Given the description of an element on the screen output the (x, y) to click on. 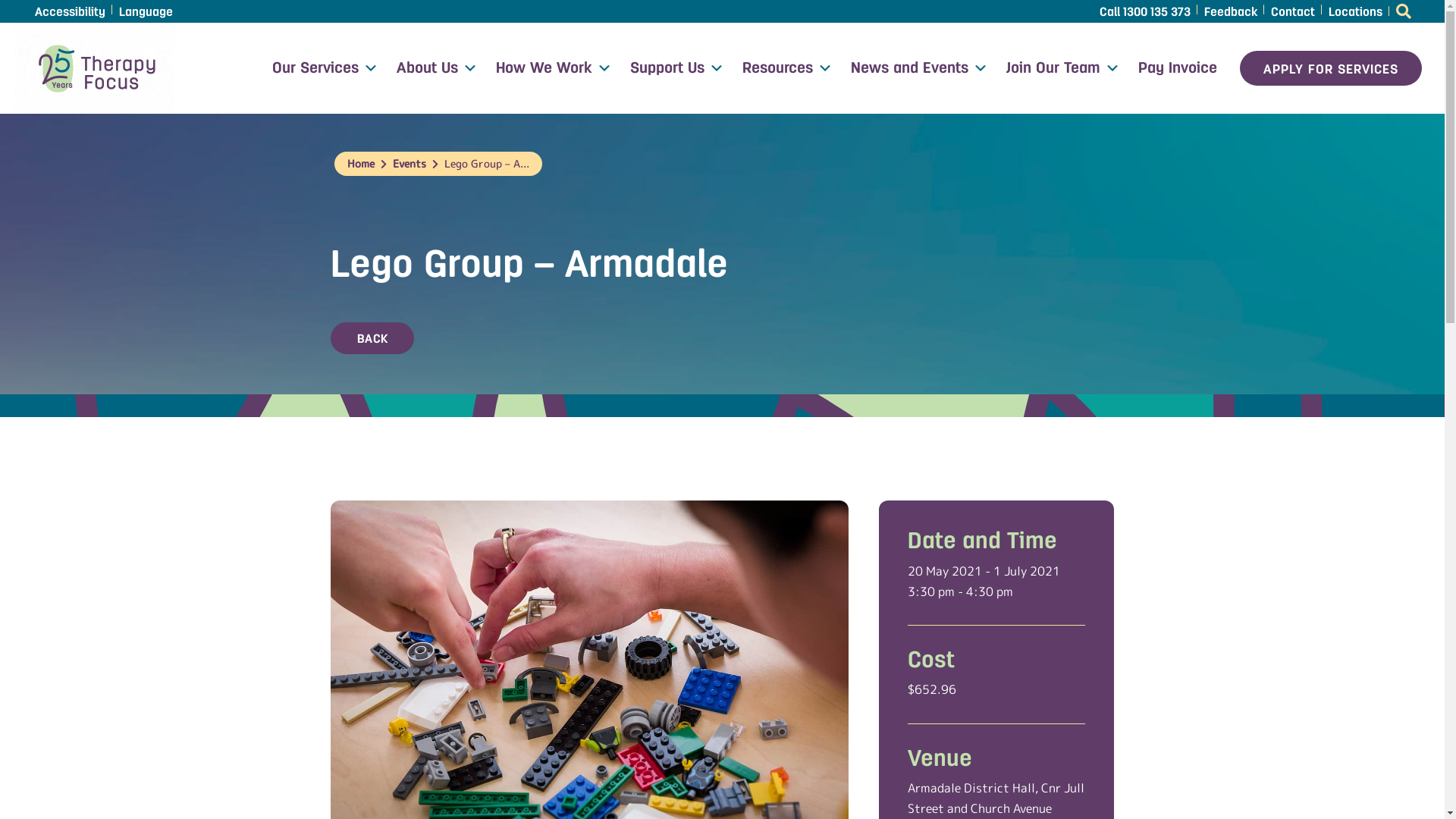
BACK Element type: text (372, 338)
Pay Invoice Element type: text (1177, 68)
Events Element type: text (409, 163)
Locations Element type: text (1354, 9)
Our Services Element type: text (324, 68)
News and Events Element type: text (919, 68)
Accessibility Element type: text (69, 9)
Language Element type: text (144, 9)
About Us Element type: text (437, 68)
Support Us Element type: text (676, 68)
Contact Element type: text (1292, 9)
How We Work Element type: text (553, 68)
Join Our Team Element type: text (1062, 68)
Call 1300 135 373 Element type: text (1144, 9)
APPLY FOR SERVICES Element type: text (1330, 67)
Resources Element type: text (787, 68)
Feedback Element type: text (1229, 9)
Home Element type: text (360, 163)
